Given the description of an element on the screen output the (x, y) to click on. 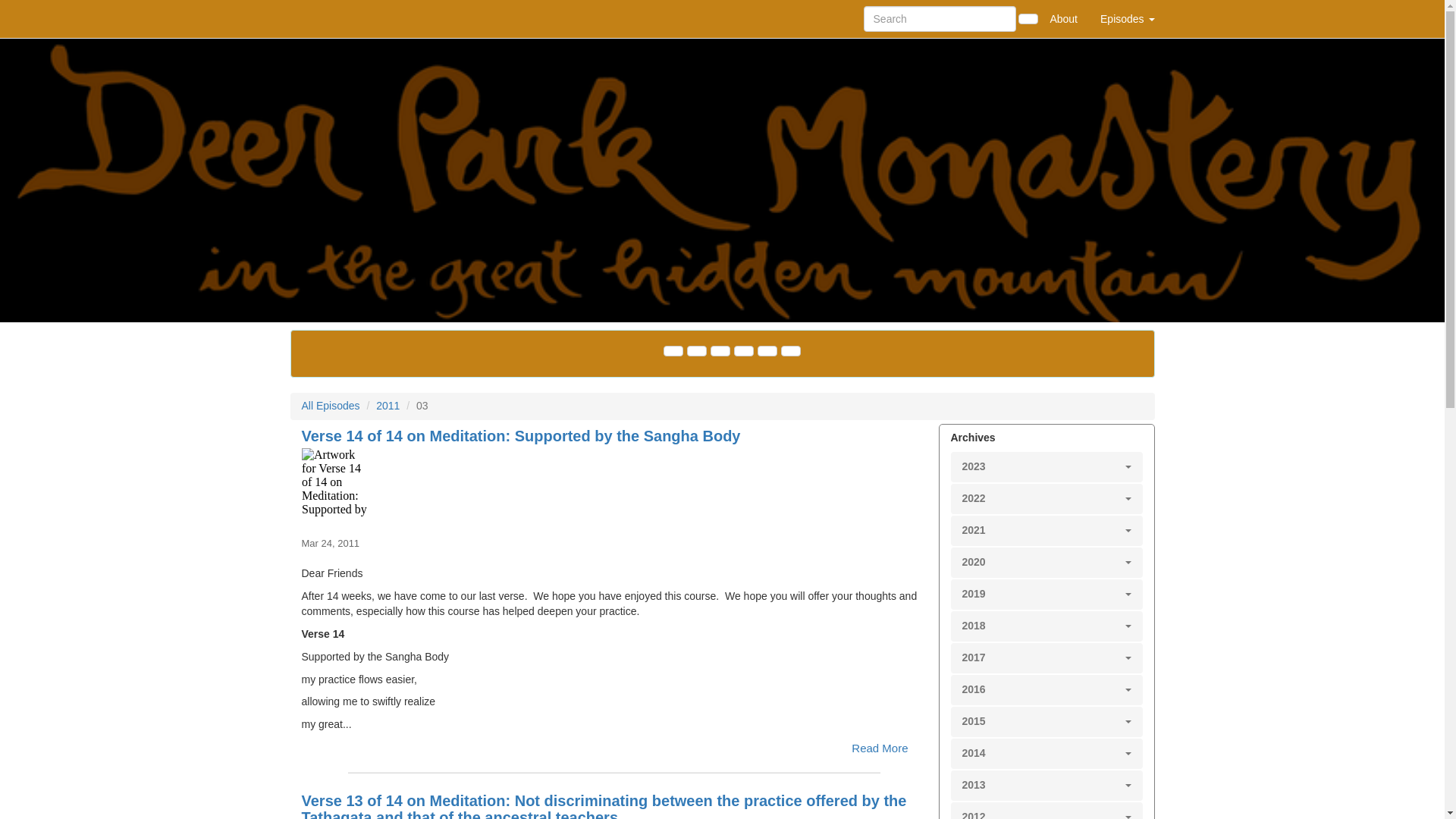
Episodes (1127, 18)
About (1063, 18)
Visit Us on Twitter (696, 350)
Verse 14 of 14 on Meditation:  Supported by the Sangha Body (614, 481)
Go To YouTube Channel (790, 350)
Listen on Spotify (766, 350)
Home Page (320, 18)
Listen on Apple Podcasts (743, 350)
Visit Us on Facebook (672, 350)
Subscribe to RSS Feed (719, 350)
